Given the description of an element on the screen output the (x, y) to click on. 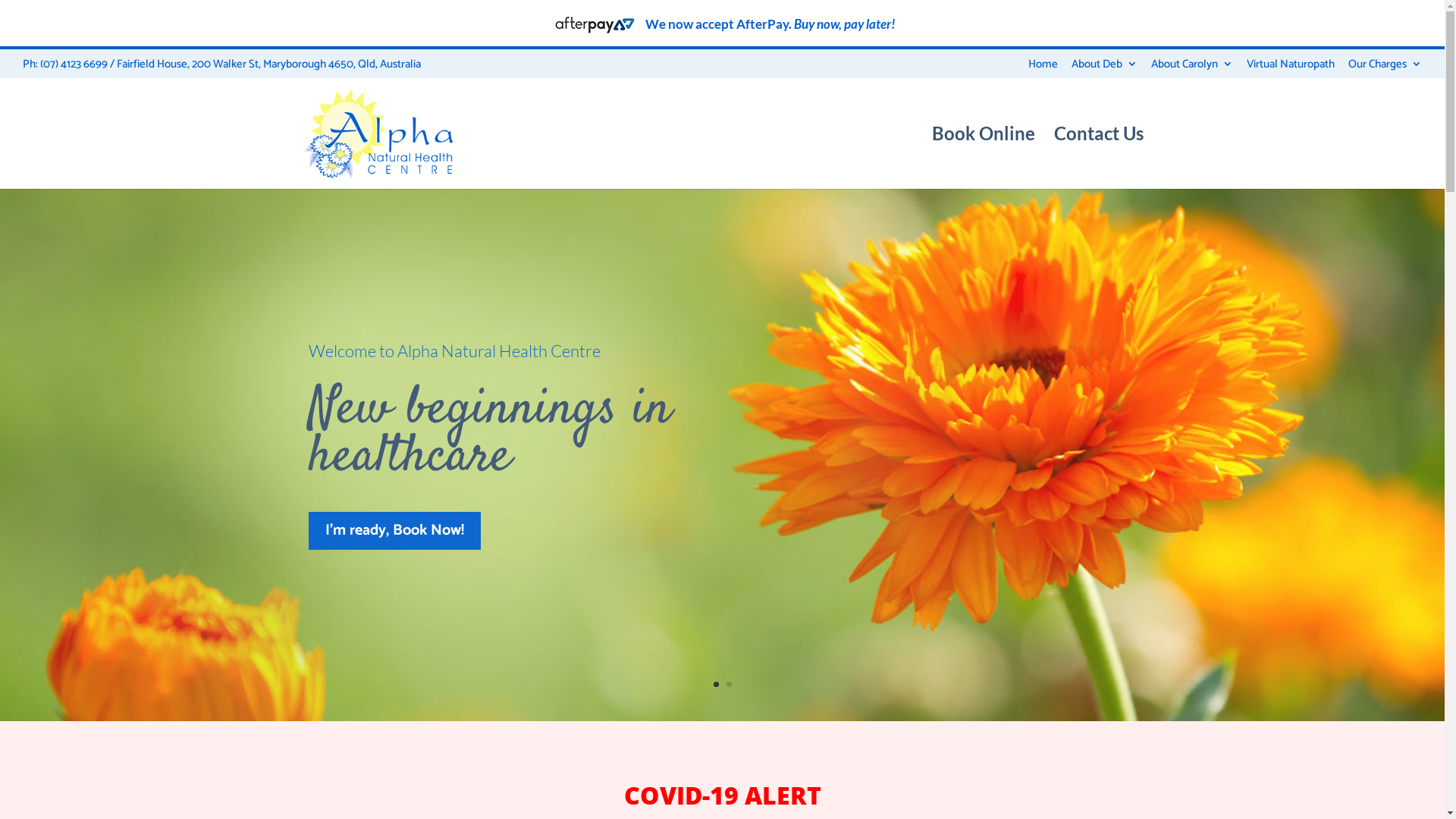
About Carolyn Element type: text (1192, 68)
About Deb Element type: text (1104, 68)
Virtual Naturopath Element type: text (1290, 68)
Our Charges Element type: text (1384, 68)
Contact Us Element type: text (1098, 158)
Home Element type: text (1042, 68)
  We now accept AfterPay. Buy now, pay later! Element type: text (721, 23)
Book Online Element type: text (982, 158)
2 Element type: text (728, 684)
1 Element type: text (715, 684)
I'm ready, Book Now! Element type: text (393, 530)
